Given the description of an element on the screen output the (x, y) to click on. 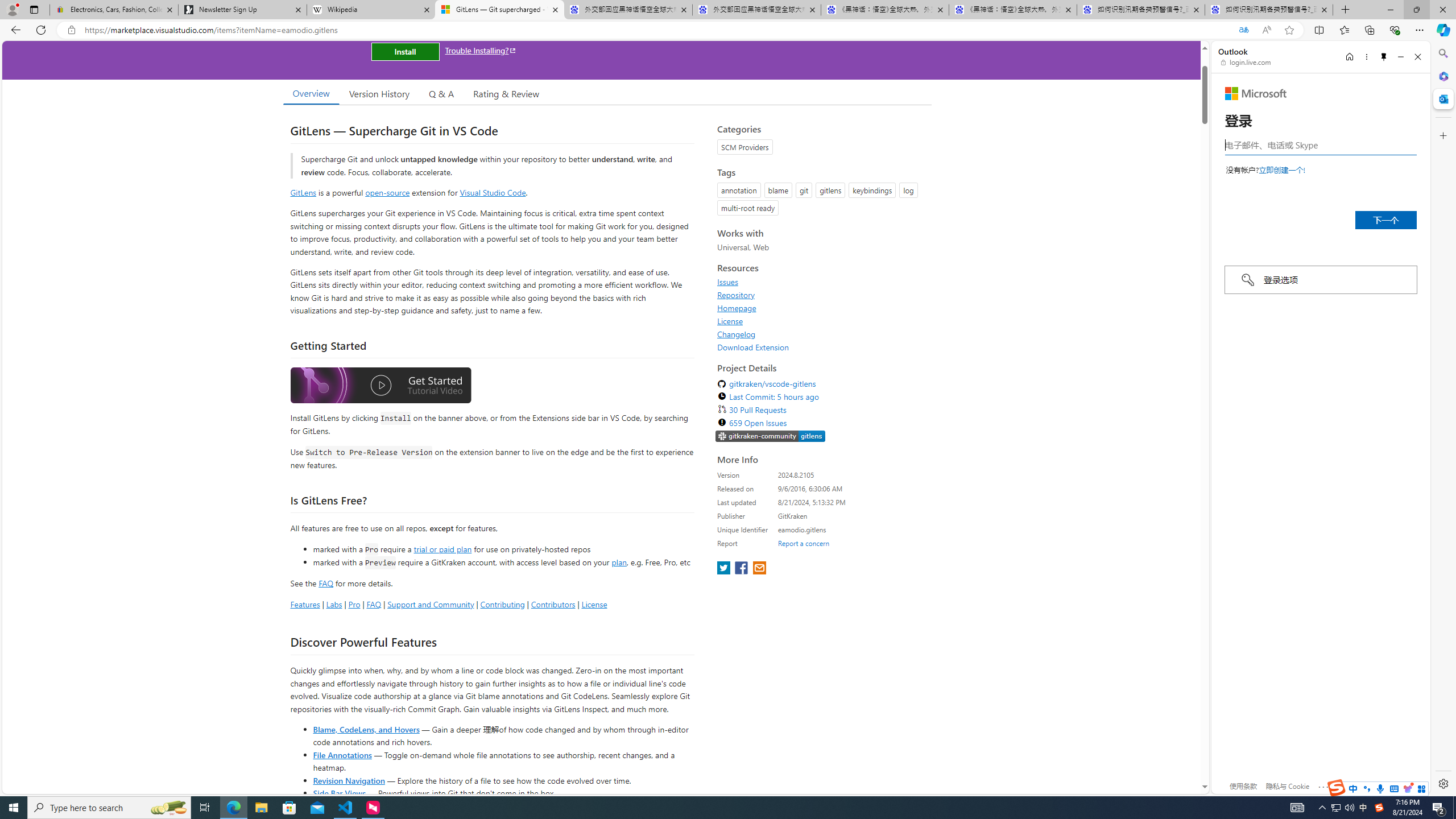
Overview (310, 92)
login.live.com (1246, 61)
Unpin side pane (1383, 56)
License (729, 320)
Watch the GitLens Getting Started video (380, 385)
Visual Studio Code (492, 192)
Download Extension (820, 346)
